Given the description of an element on the screen output the (x, y) to click on. 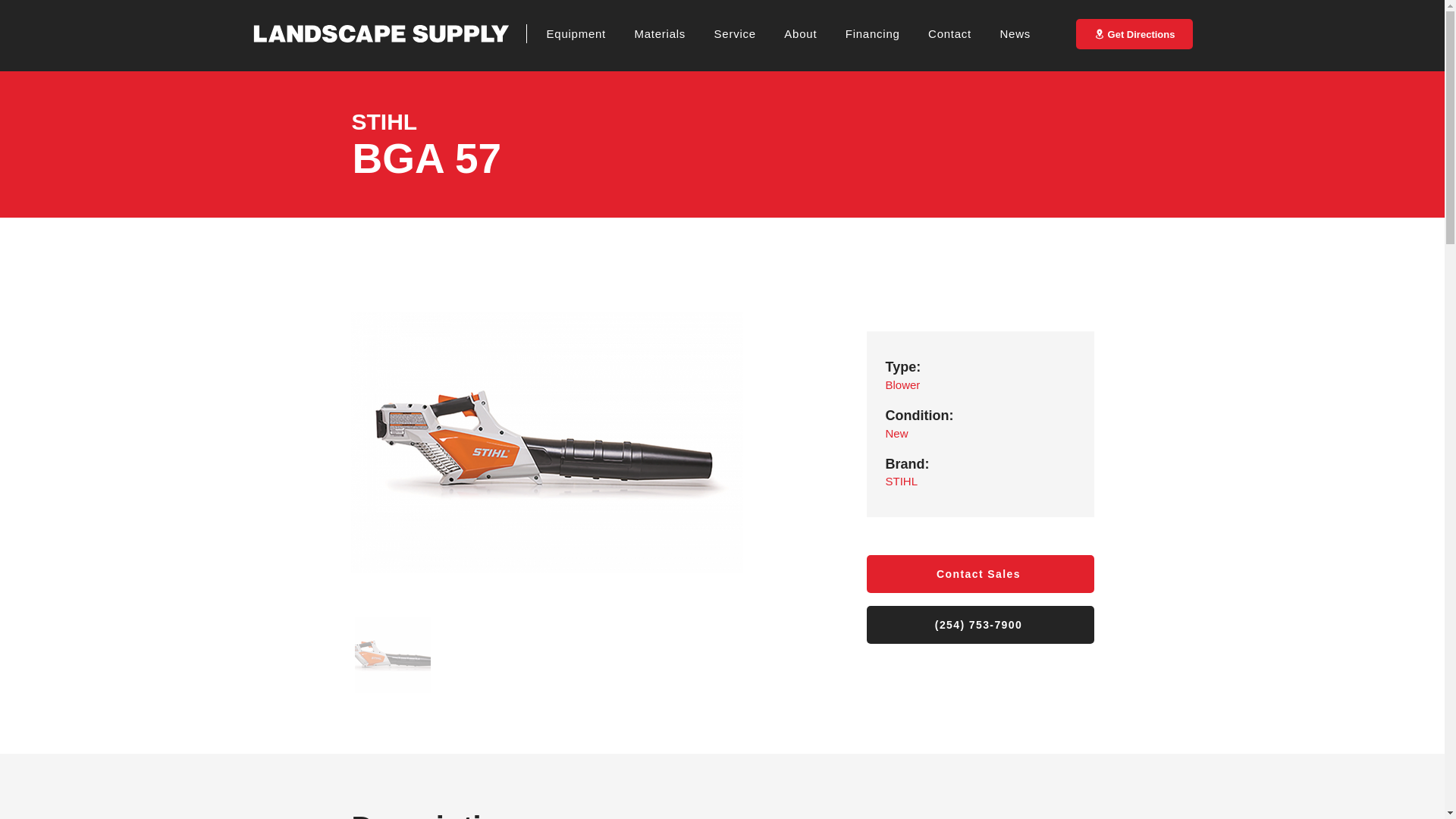
Materials (671, 33)
Get Directions (1133, 33)
Service (747, 33)
Equipment (589, 33)
Contact Sales (979, 573)
News (1026, 33)
About (812, 33)
Contact (961, 33)
Financing (884, 33)
